Given the description of an element on the screen output the (x, y) to click on. 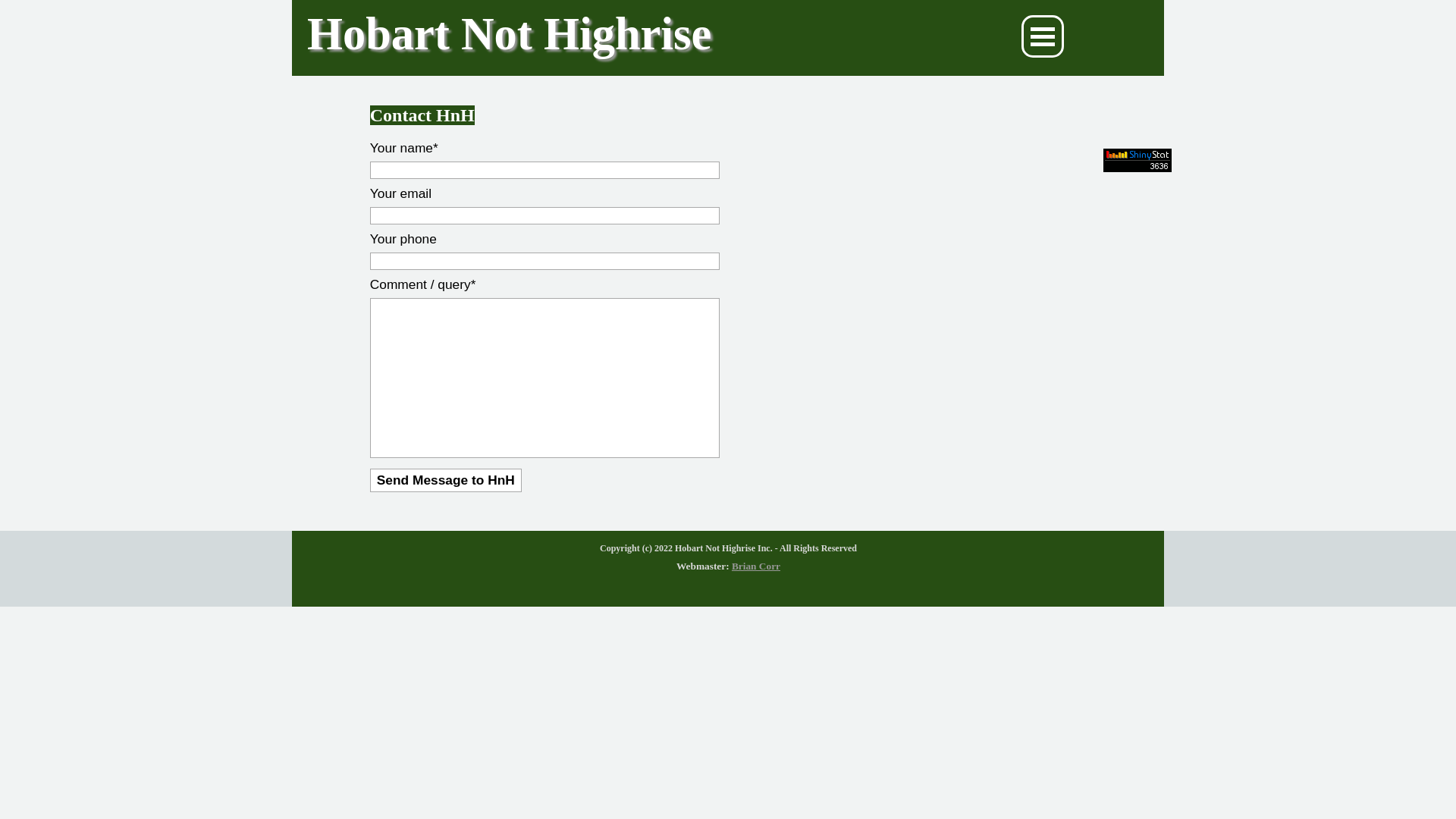
Brian Corr Element type: text (755, 565)
